Given the description of an element on the screen output the (x, y) to click on. 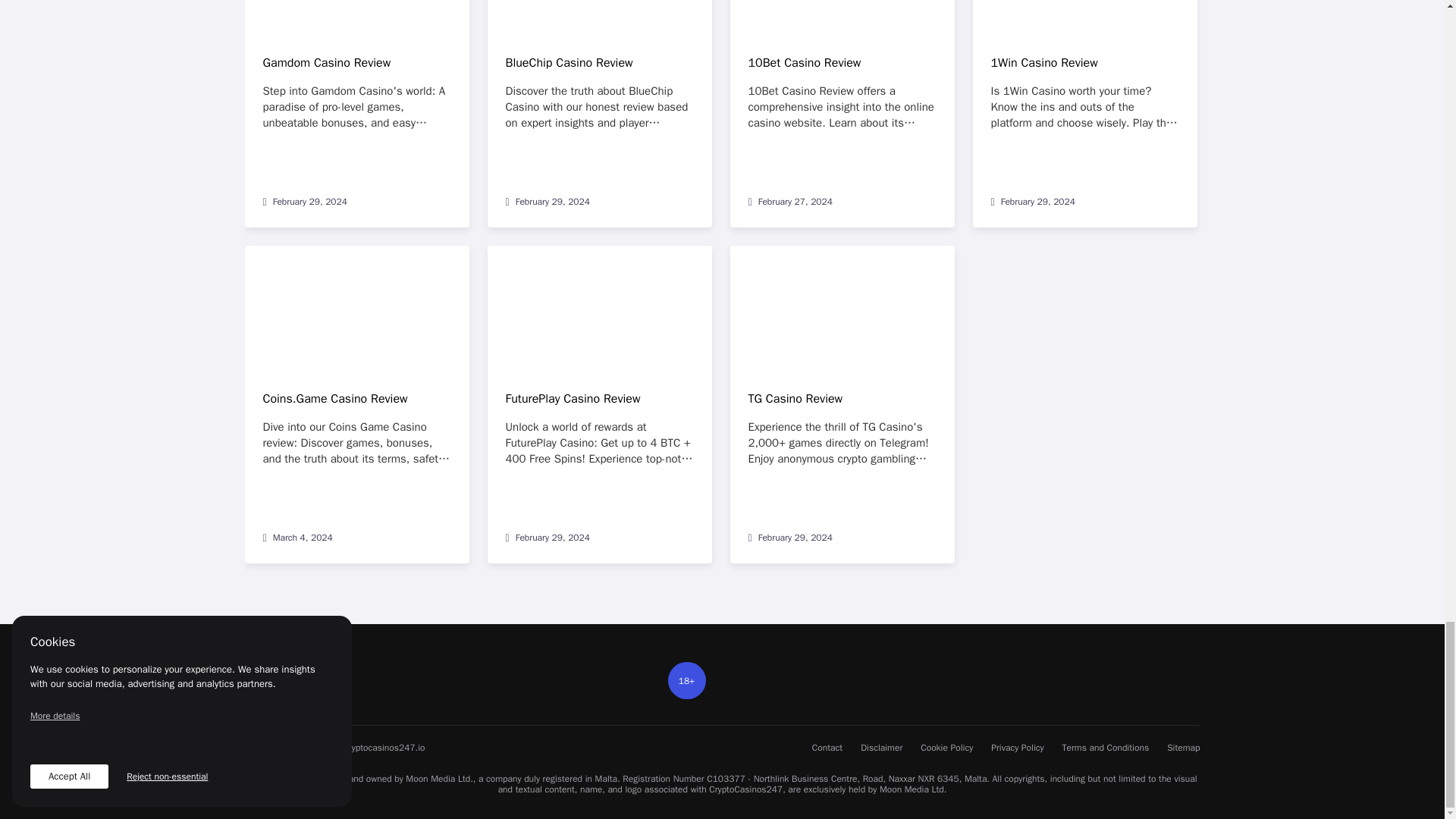
Be Gamble Aware (1121, 674)
DMCA (1178, 674)
Crypto Gambling Foundation (994, 674)
Gambling Therapy (1059, 674)
